Given the description of an element on the screen output the (x, y) to click on. 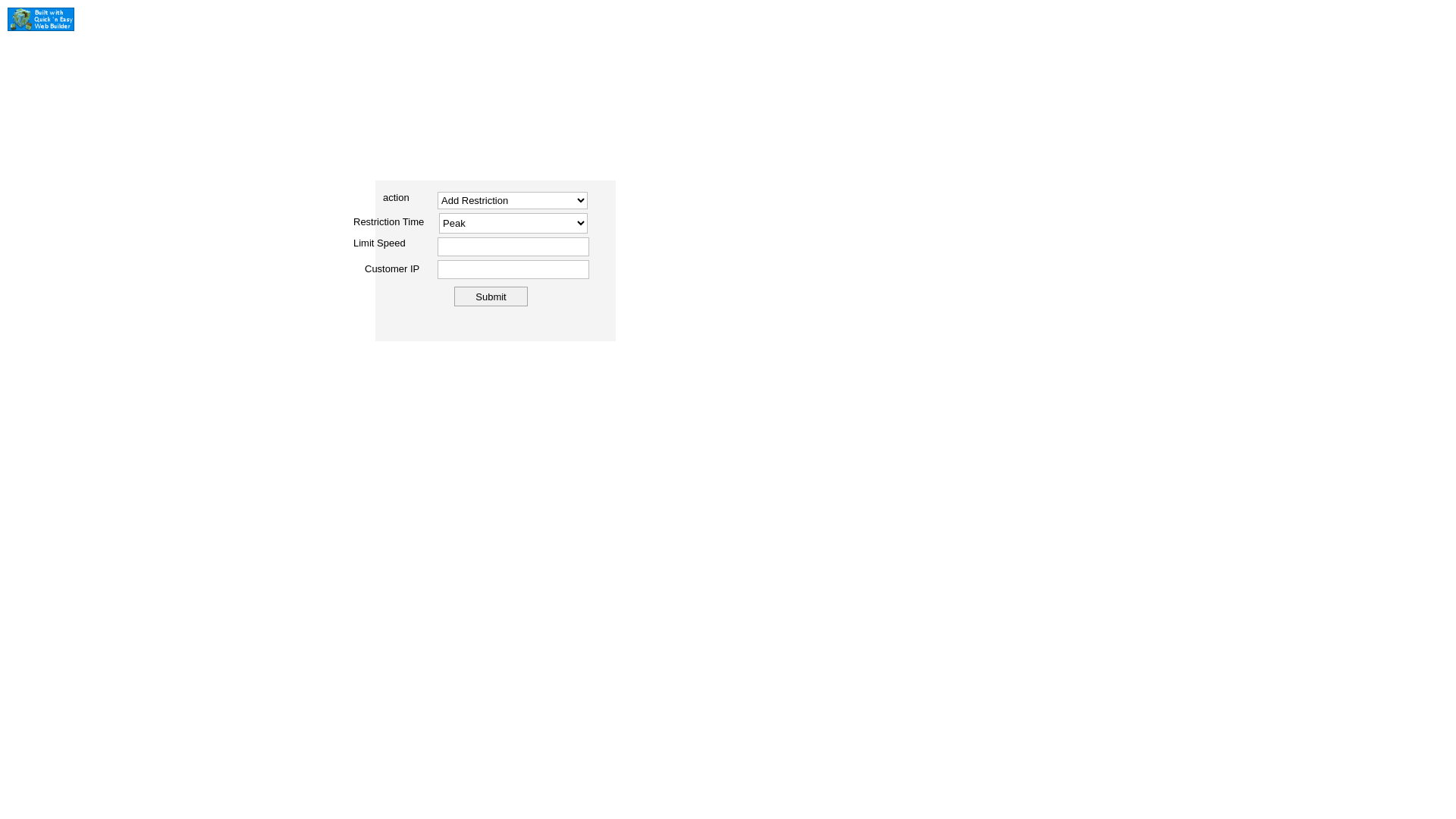
Submit Element type: text (490, 296)
